Given the description of an element on the screen output the (x, y) to click on. 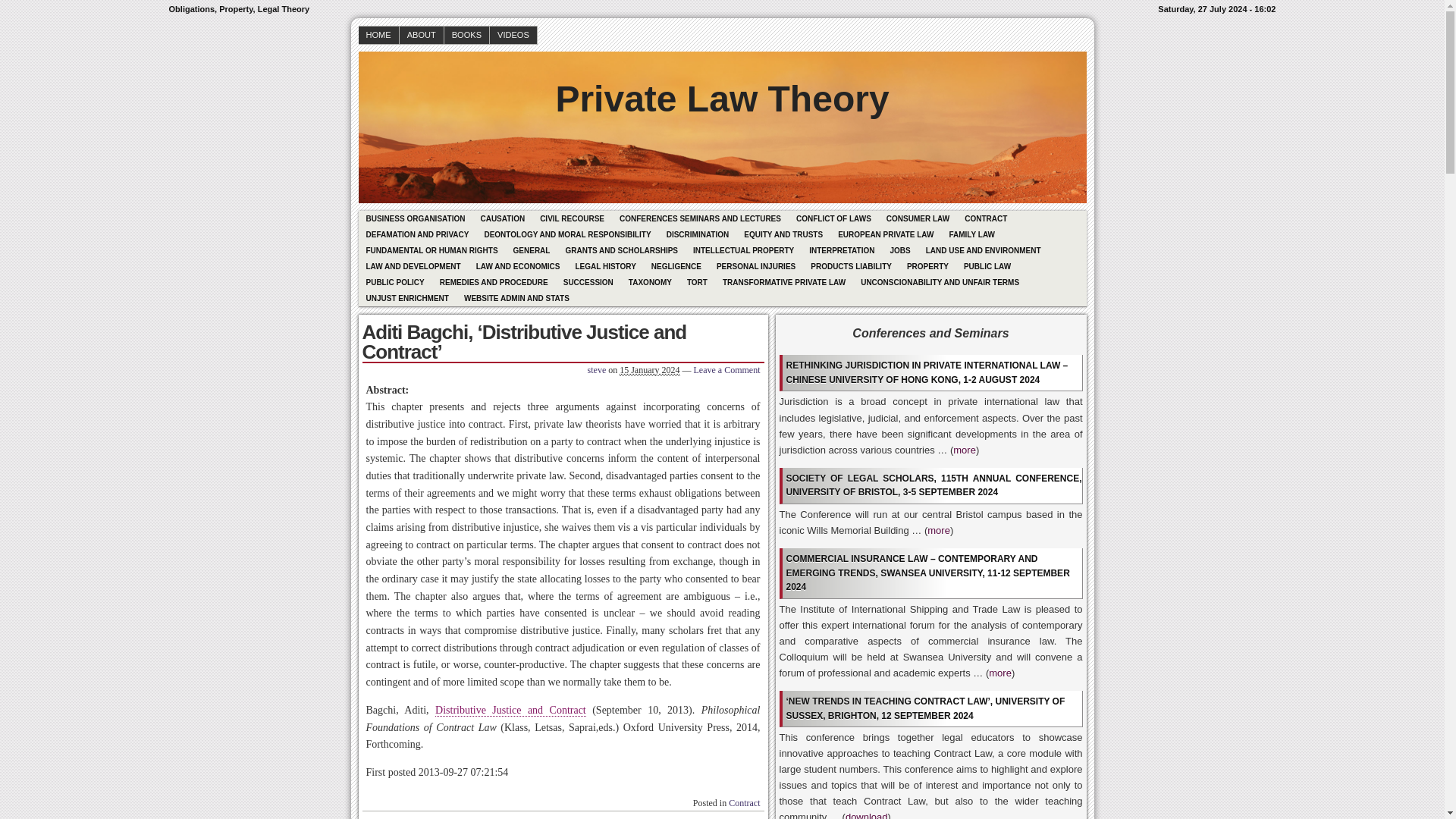
ABOUT (421, 34)
TAXONOMY (650, 282)
TORT (696, 282)
Obligations, Property, Legal Theory (721, 88)
BUSINESS ORGANISATION (414, 218)
15 January 2024 - 09:49 (649, 369)
SUCCESSION (588, 282)
EQUITY AND TRUSTS (782, 234)
CONTRACT (985, 218)
PROPERTY (927, 266)
PUBLIC POLICY (394, 282)
JOBS (899, 250)
EUROPEAN PRIVATE LAW (884, 234)
FAMILY LAW (971, 234)
LAND USE AND ENVIRONMENT (983, 250)
